Given the description of an element on the screen output the (x, y) to click on. 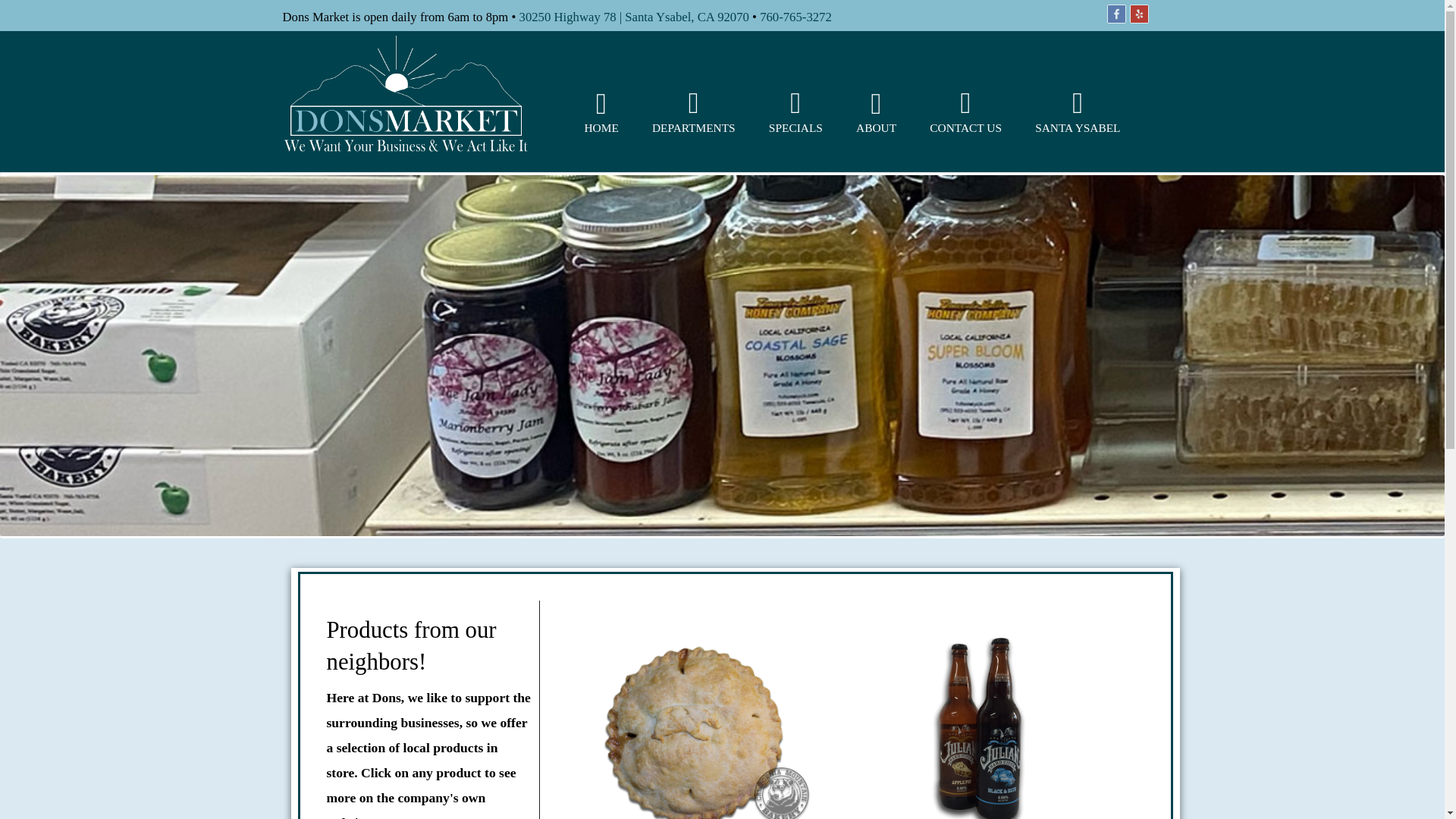
760-765-3272 (795, 16)
CONTACT US (965, 112)
SPECIALS (795, 112)
SANTA YSABEL (1077, 112)
Dons Market (405, 96)
DEPARTMENTS (693, 112)
Dons Market (405, 148)
